Given the description of an element on the screen output the (x, y) to click on. 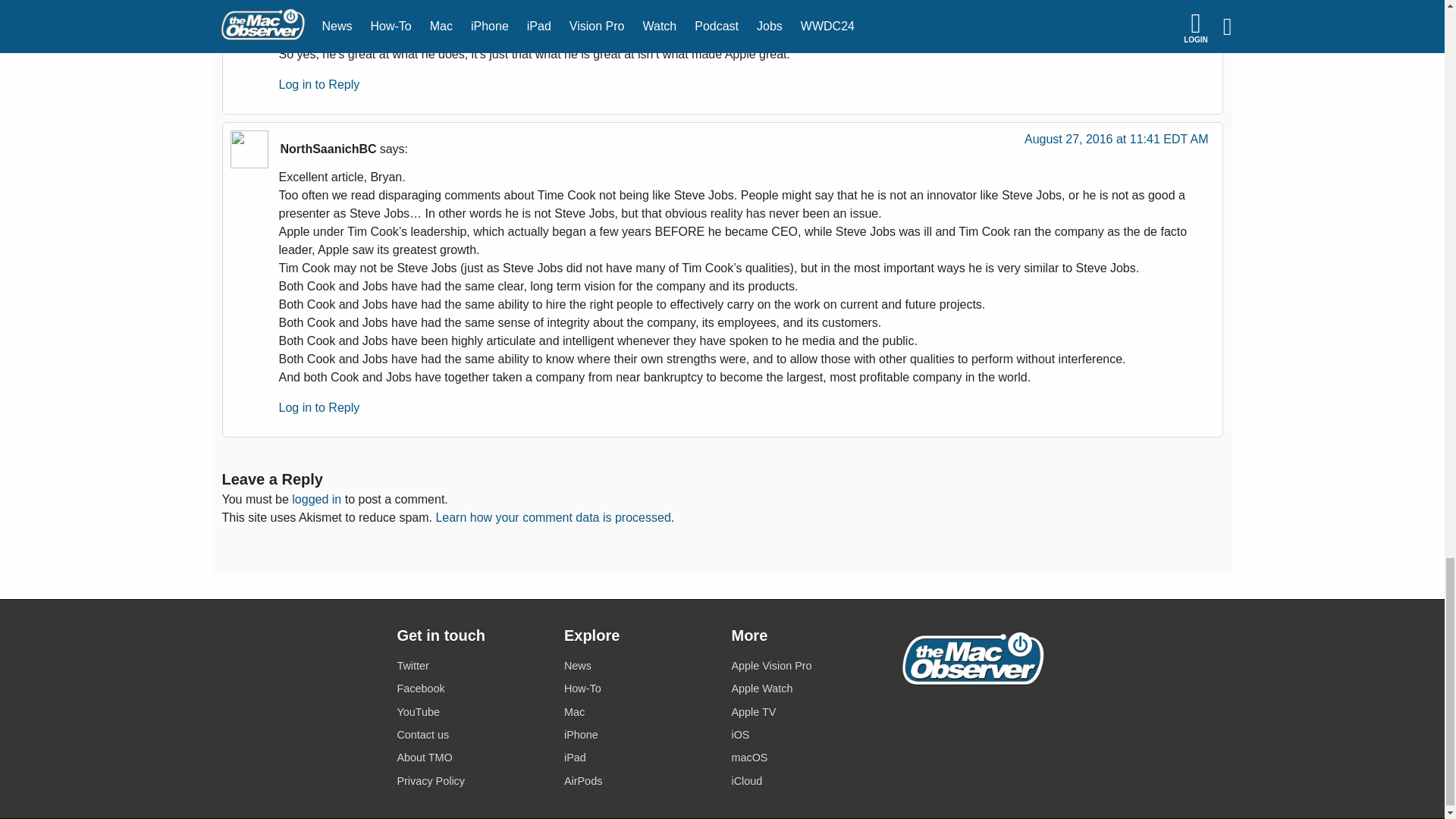
Contact us (471, 734)
Twitter (471, 666)
logged in (316, 499)
About TMO (471, 757)
Log in to Reply (319, 83)
Facebook (471, 688)
YouTube (471, 711)
Learn how your comment data is processed (552, 517)
Log in to Reply (319, 407)
August 27, 2016 at 11:41 EDT AM (1116, 143)
